Given the description of an element on the screen output the (x, y) to click on. 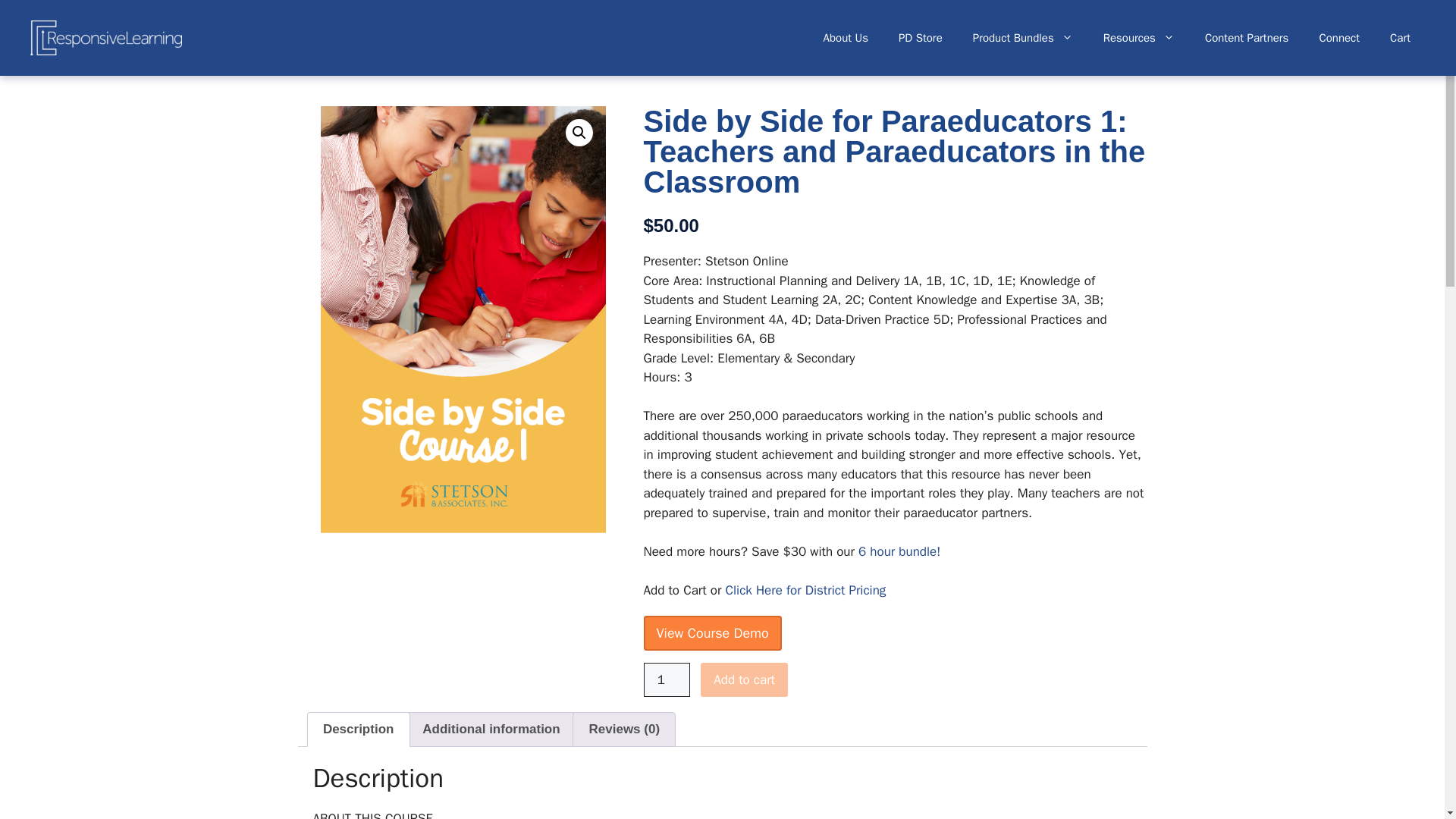
Add to cart (743, 679)
1 (666, 679)
Click Here for District Pricing (805, 590)
View Course Demo (711, 632)
PD Store (920, 37)
Resources (1138, 37)
About Us (845, 37)
Product Bundles (1022, 37)
Connect (1338, 37)
Additional information (491, 729)
Description (358, 729)
Content Partners (1246, 37)
Cart (1399, 37)
6 hour bundle! (899, 550)
